Given the description of an element on the screen output the (x, y) to click on. 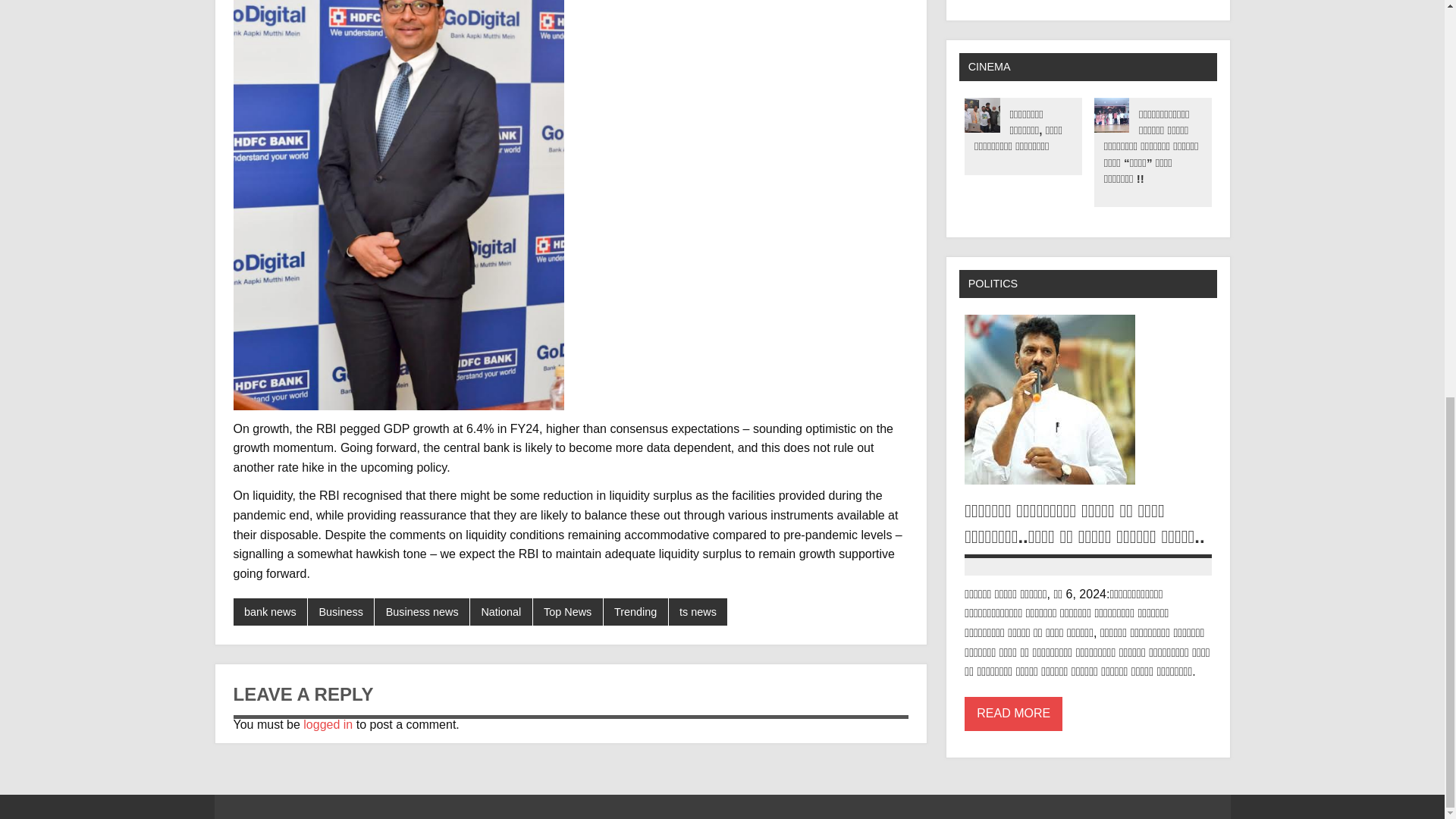
bank news (269, 611)
Business (340, 611)
ts news (698, 611)
Top News (567, 611)
Business news (421, 611)
logged in (327, 724)
National (501, 611)
Trending (636, 611)
